Given the description of an element on the screen output the (x, y) to click on. 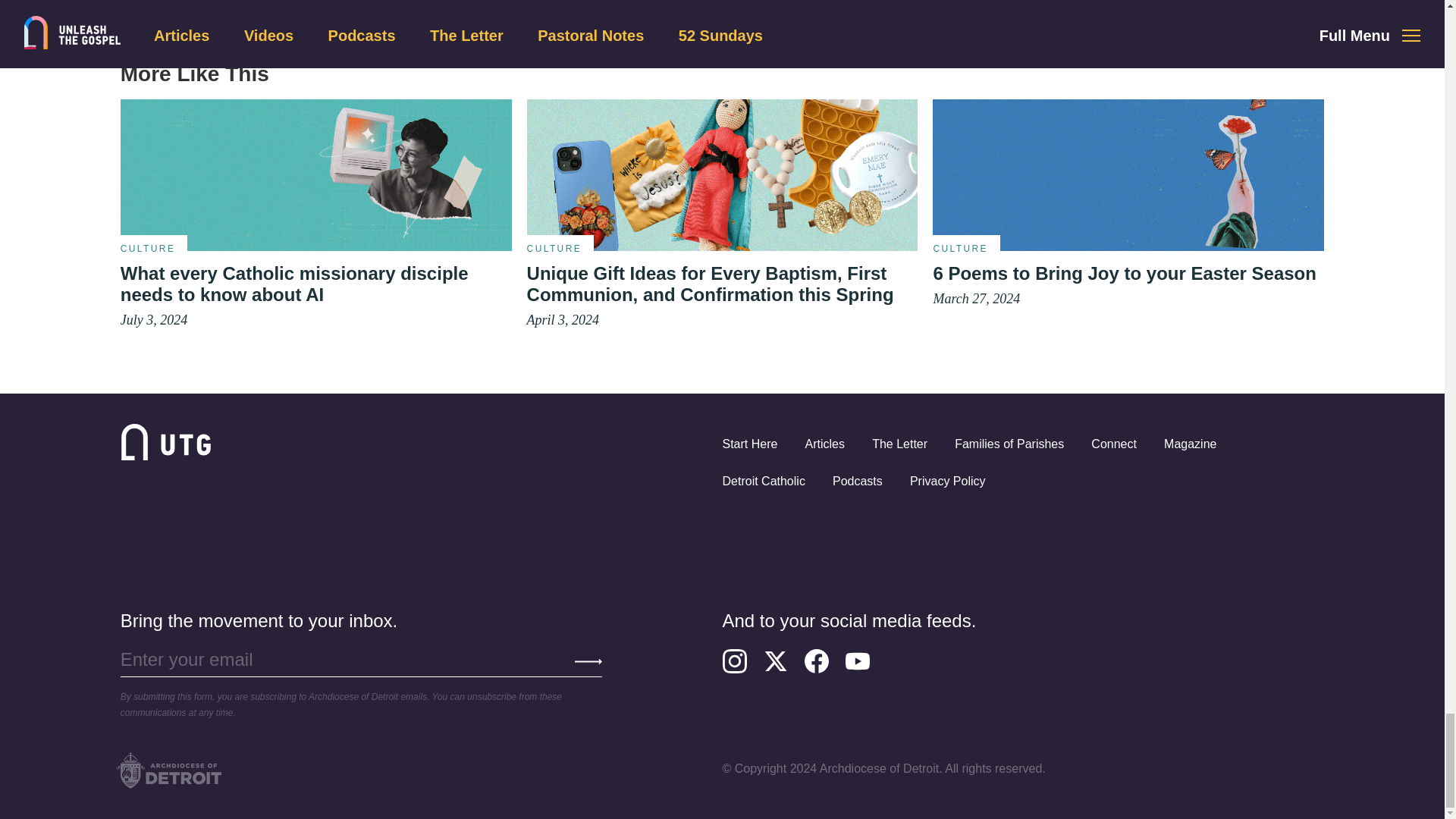
WP (722, 174)
